Given the description of an element on the screen output the (x, y) to click on. 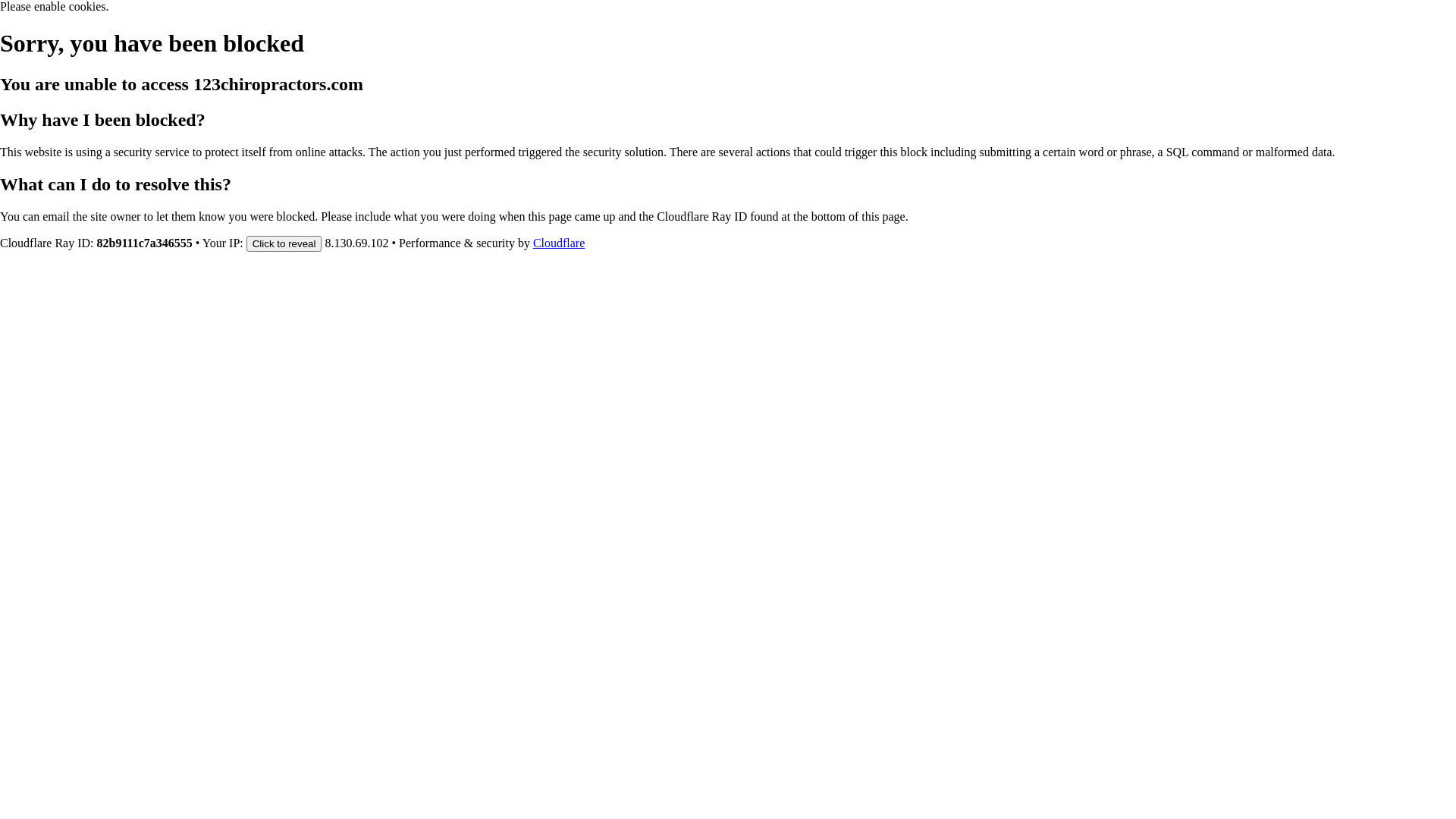
Cloudflare Element type: text (558, 242)
Click to reveal Element type: text (284, 243)
